Given the description of an element on the screen output the (x, y) to click on. 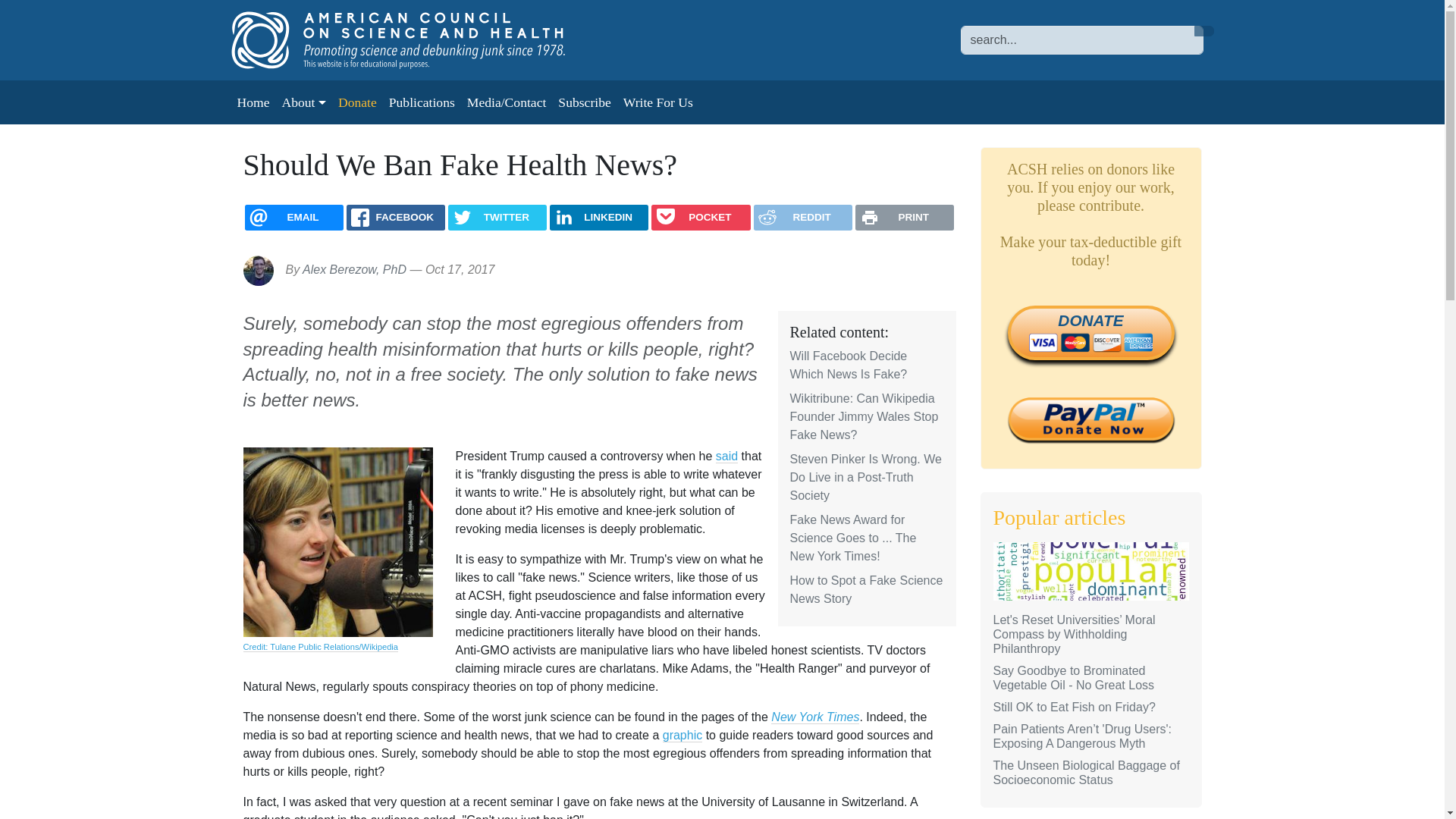
Fake News Award for Science Goes to ... The New York Times! (853, 537)
said (727, 456)
TWITTER (497, 217)
Will Facebook Decide Which News Is Fake? (848, 364)
New York Times (815, 716)
Home (252, 101)
graphic (681, 735)
LINKEDIN (598, 217)
Home (413, 39)
Expand menu About (303, 101)
POCKET (699, 217)
Write For Us (657, 101)
EMAIL (293, 217)
Publications (421, 101)
